Given the description of an element on the screen output the (x, y) to click on. 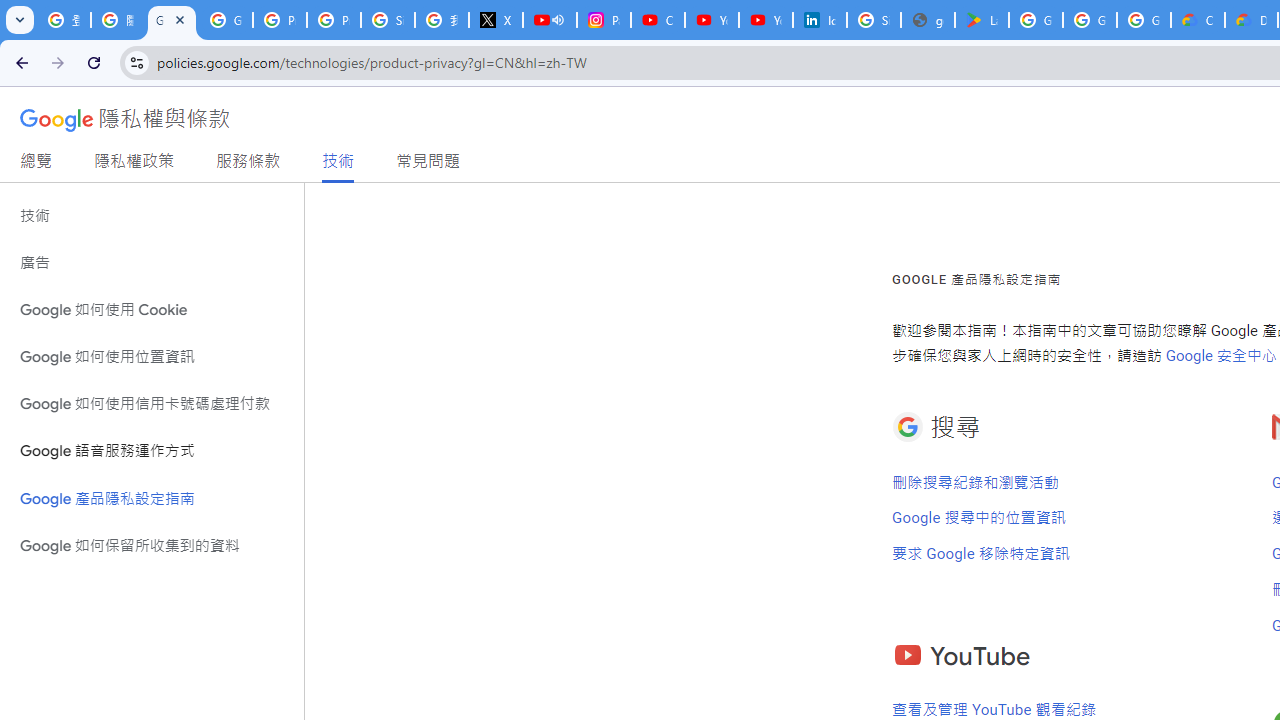
Sign in - Google Accounts (387, 20)
Google Workspace - Specific Terms (1089, 20)
X (495, 20)
